Given the description of an element on the screen output the (x, y) to click on. 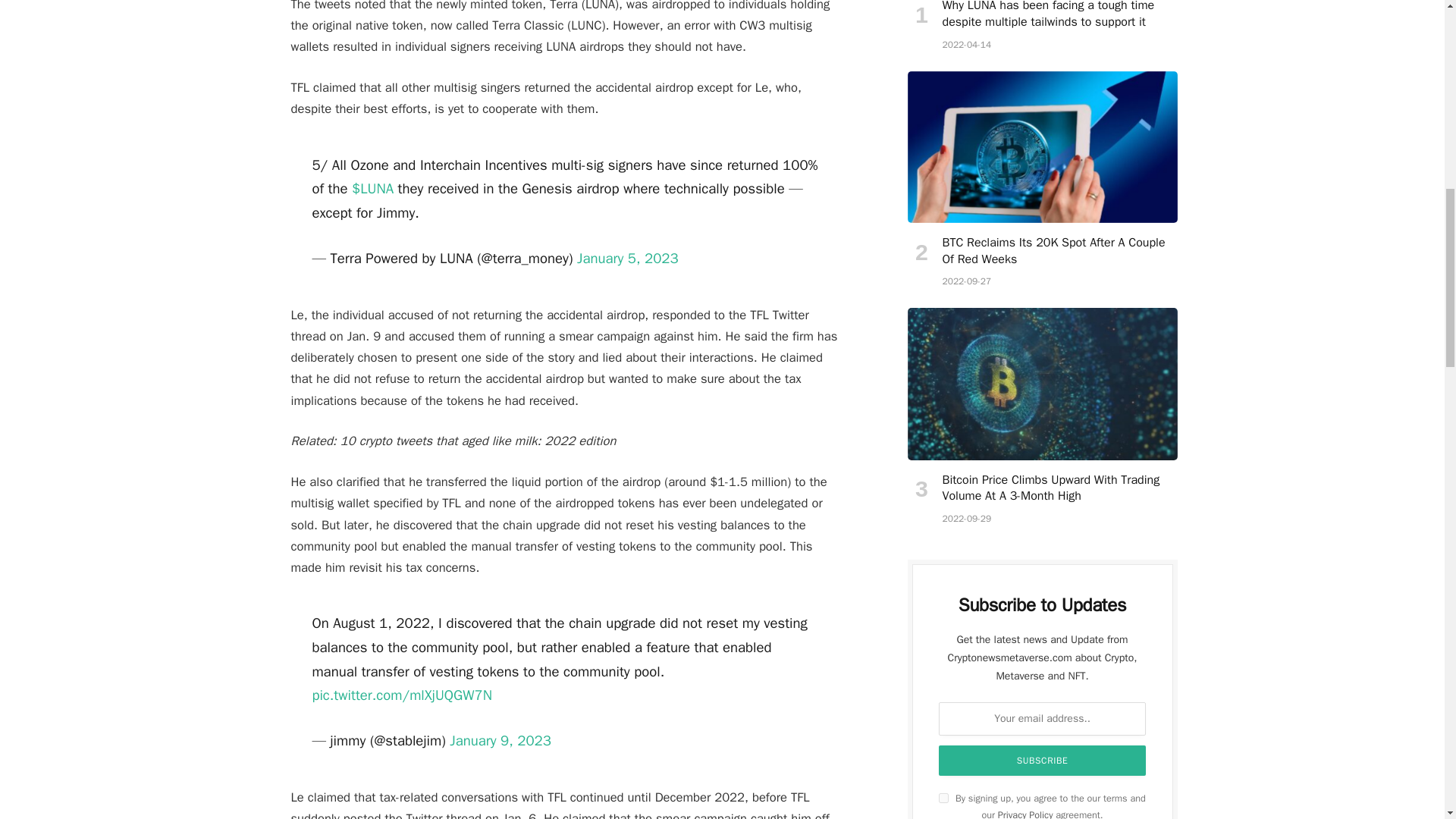
on (944, 798)
Subscribe (1043, 760)
